Given the description of an element on the screen output the (x, y) to click on. 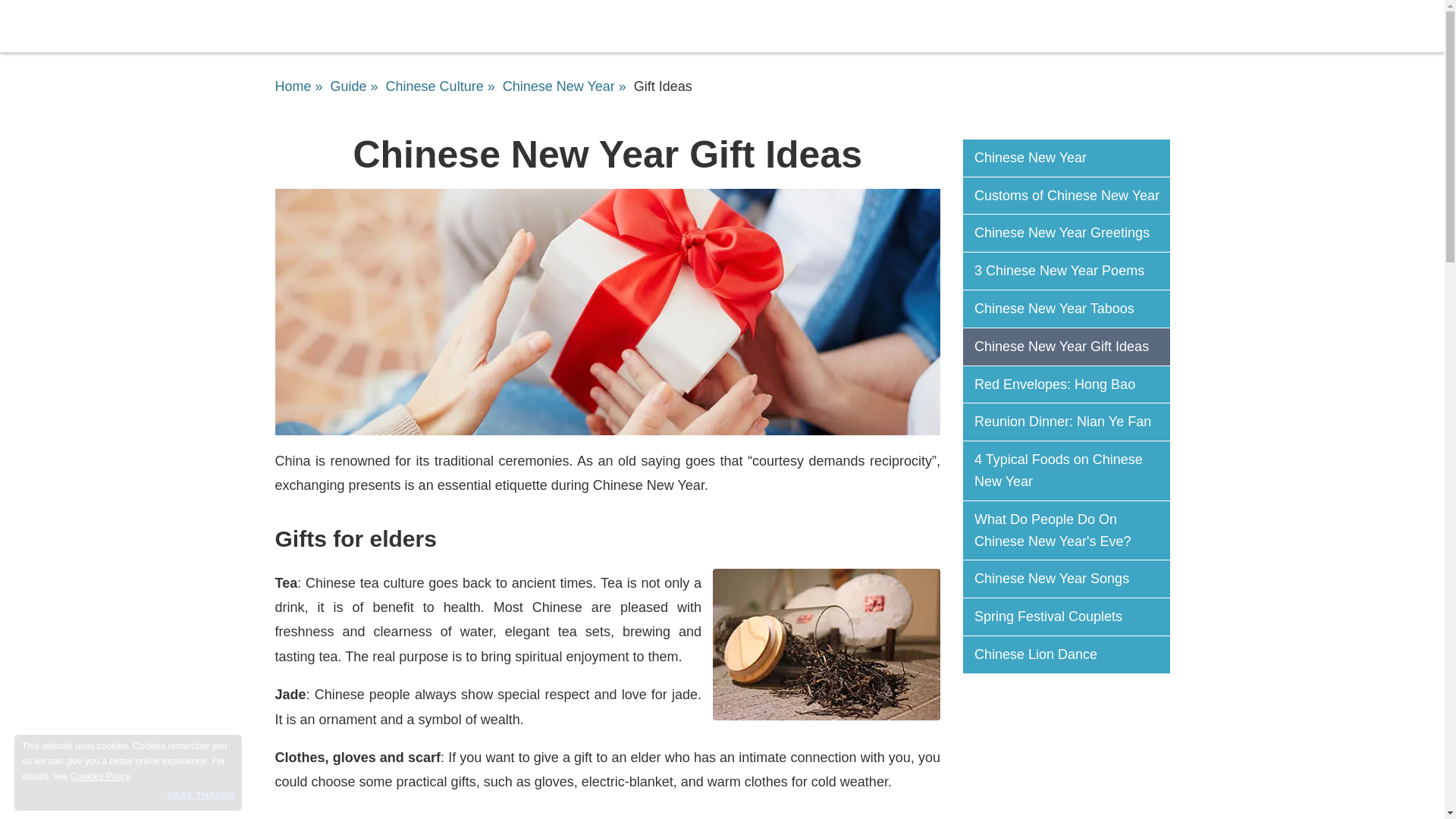
OKAY, THANKS (200, 795)
4 Typical Foods on Chinese New Year (1072, 470)
Cookies Policy (99, 776)
Chinese New Year Songs (1072, 578)
Chinese New Year Taboos (1072, 309)
Chinese New Year (1072, 157)
Red Envelopes: Hong Bao (1072, 384)
Reunion Dinner: Nian Ye Fan (1072, 422)
Customs of Chinese New Year (1072, 196)
What Do People Do On Chinese New Year's Eve? (1072, 530)
